Given the description of an element on the screen output the (x, y) to click on. 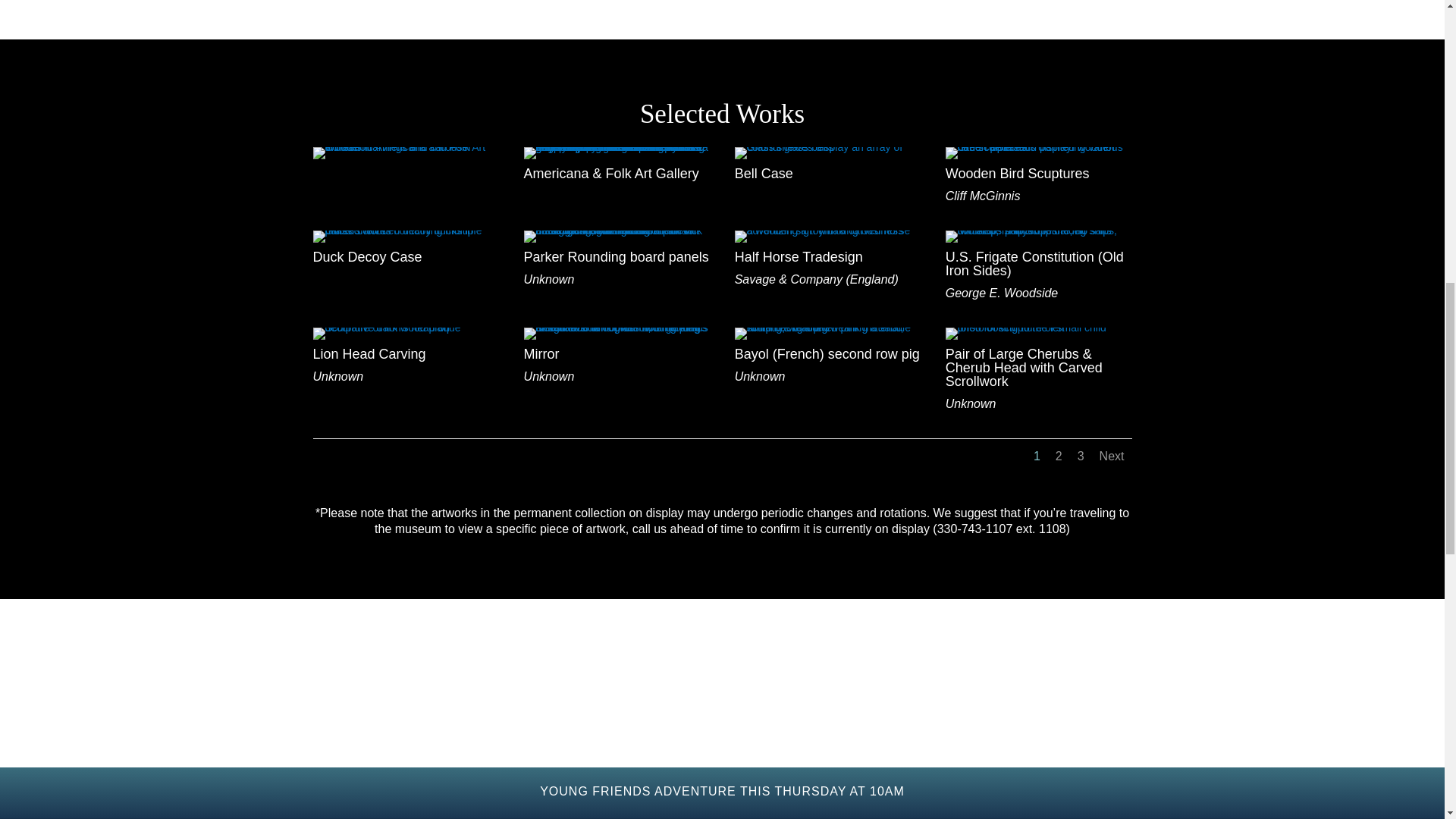
Duck Decoy Case (406, 230)
Half Horse Tradesign (828, 230)
Wooden Bird Scuptures (1038, 146)
Parker Rounding board panels (617, 230)
Mirror (617, 327)
Bell Case (828, 146)
Lion Head Carving (406, 327)
